Given the description of an element on the screen output the (x, y) to click on. 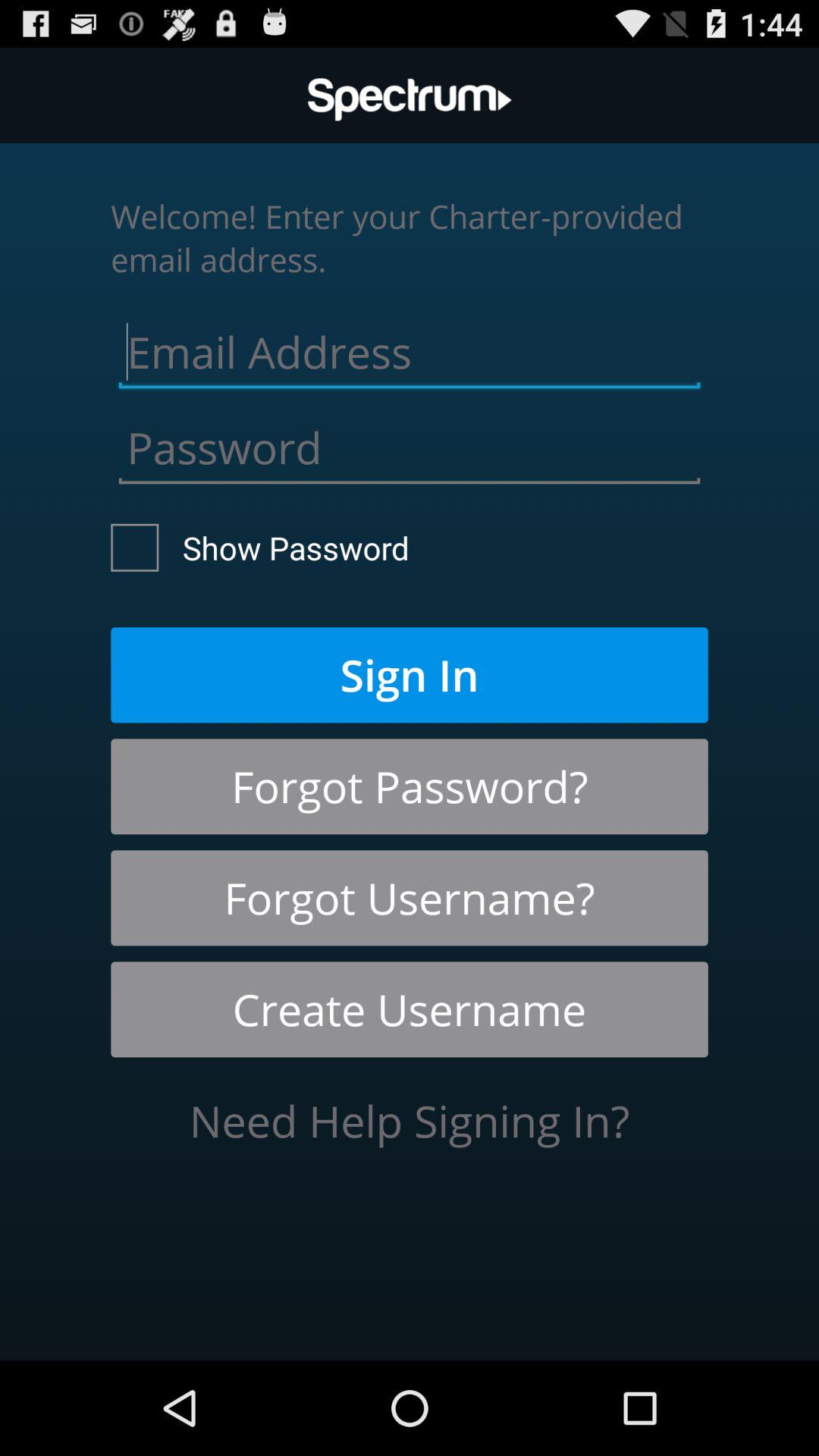
select the icon below the forgot username? icon (409, 1009)
